Given the description of an element on the screen output the (x, y) to click on. 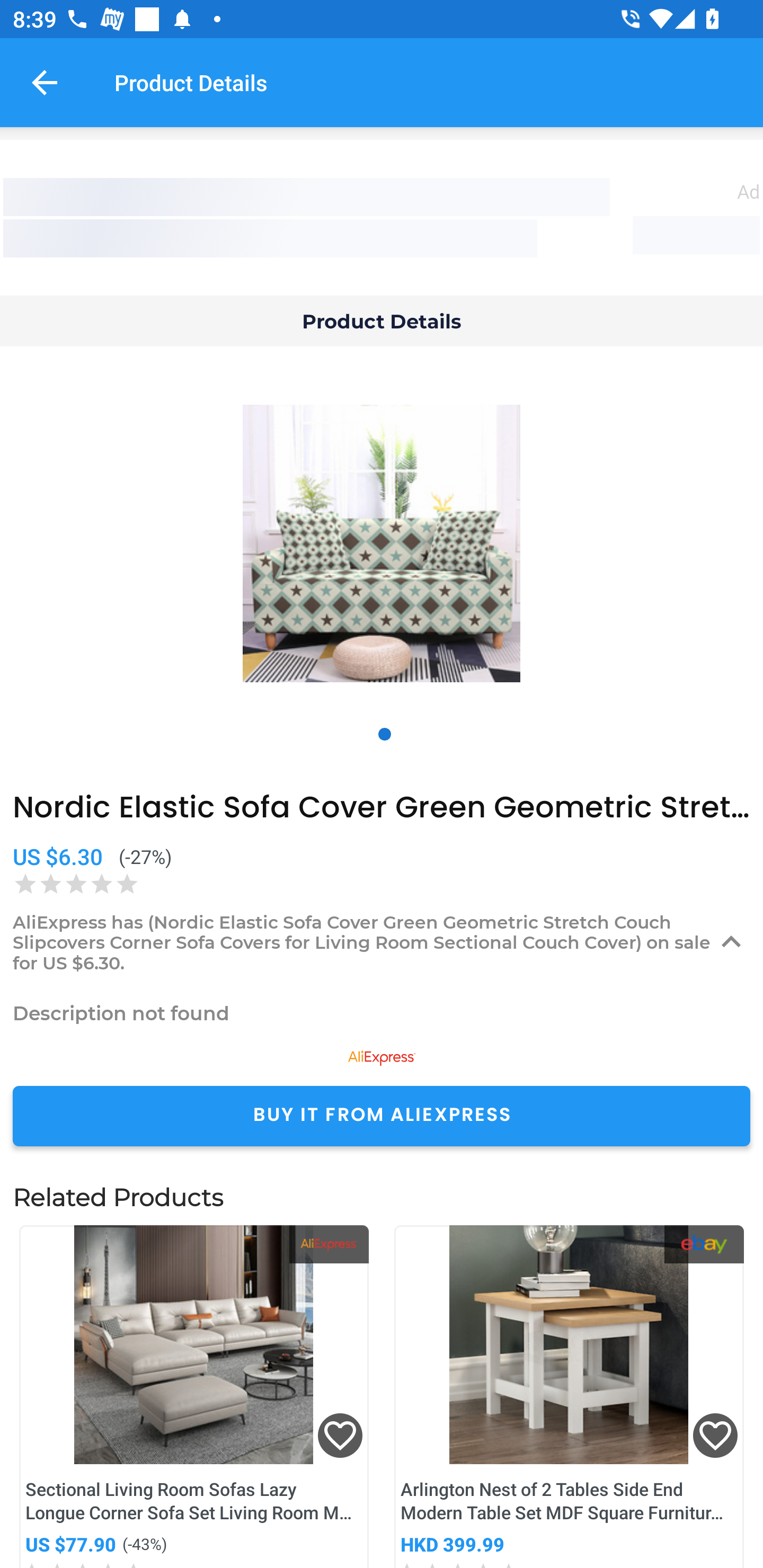
Navigate up (44, 82)
Description not found (381, 1012)
BUY IT FROM ALIEXPRESS (381, 1115)
